Given the description of an element on the screen output the (x, y) to click on. 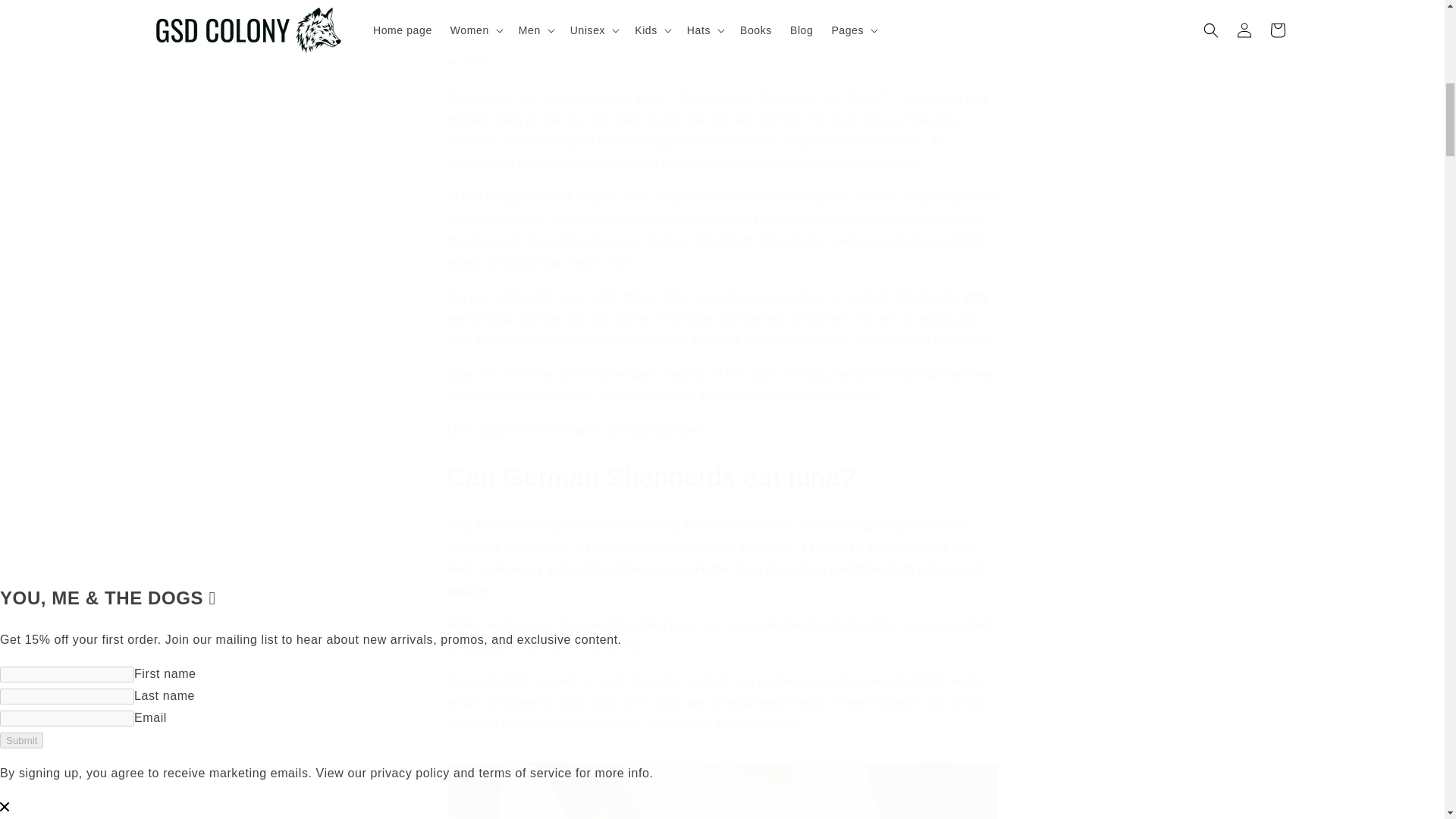
Share (721, 59)
Fueling Your German Shepherd: Proper Diet Tips (975, 296)
